Given the description of an element on the screen output the (x, y) to click on. 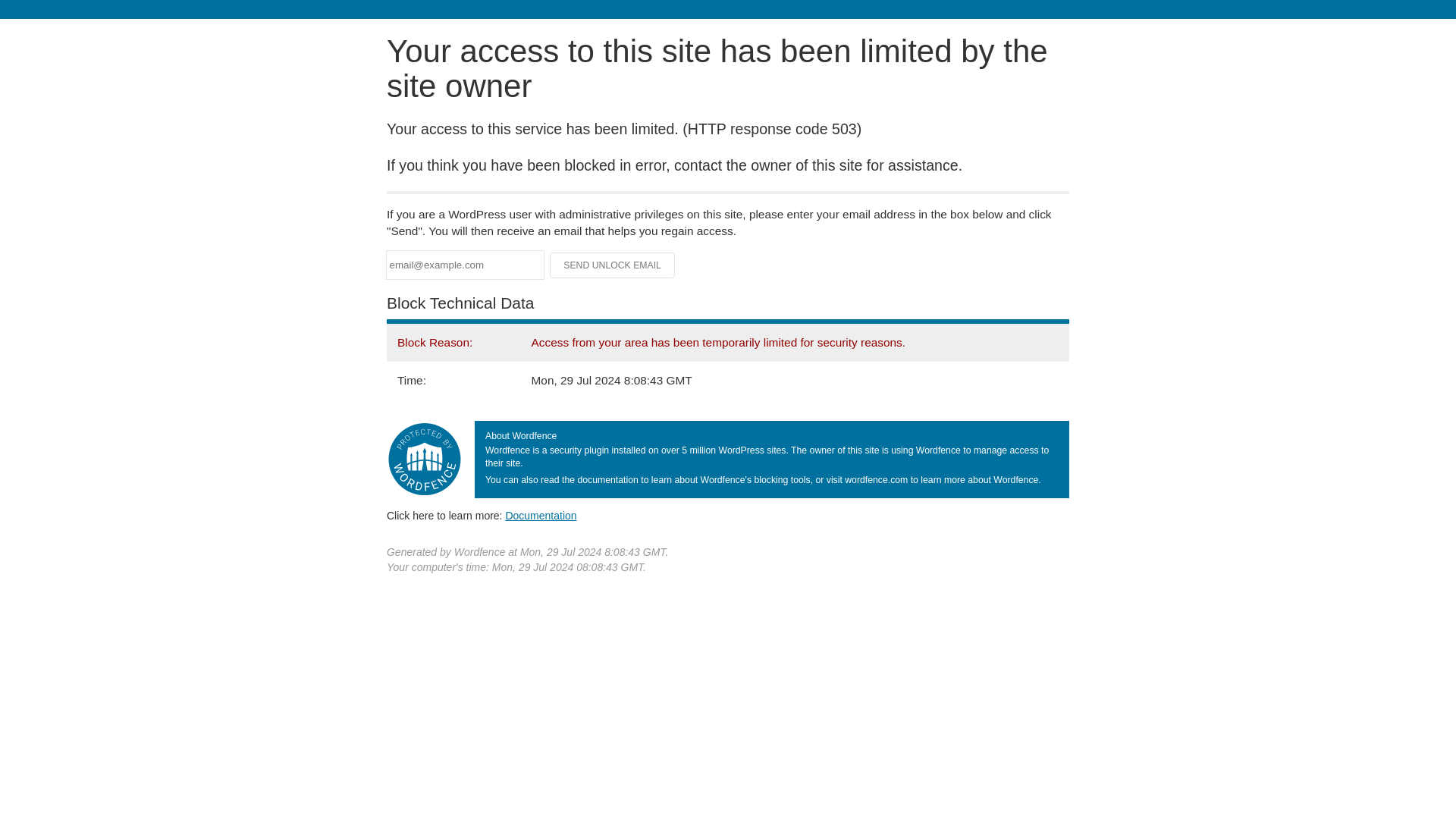
Send Unlock Email (612, 265)
Documentation (540, 515)
Send Unlock Email (612, 265)
